Given the description of an element on the screen output the (x, y) to click on. 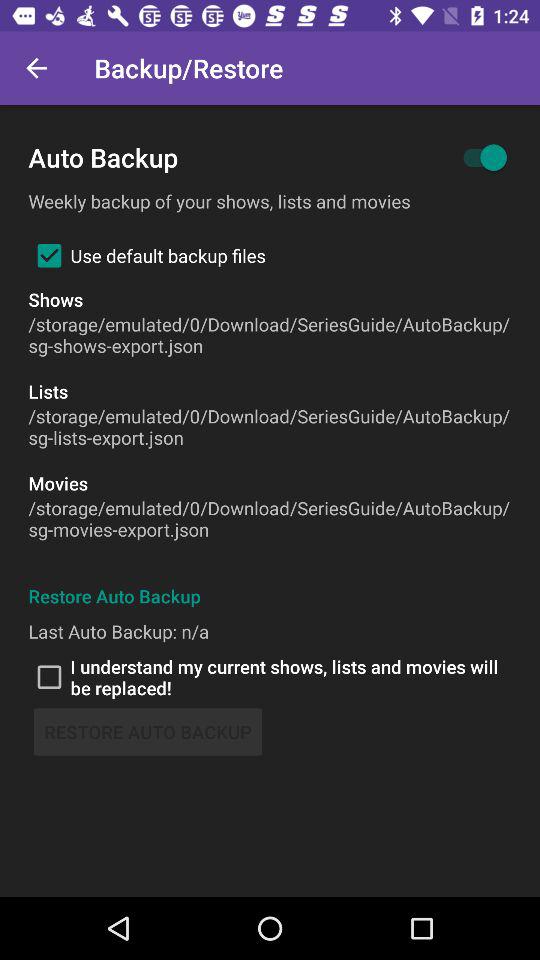
choose icon above the shows (146, 255)
